Given the description of an element on the screen output the (x, y) to click on. 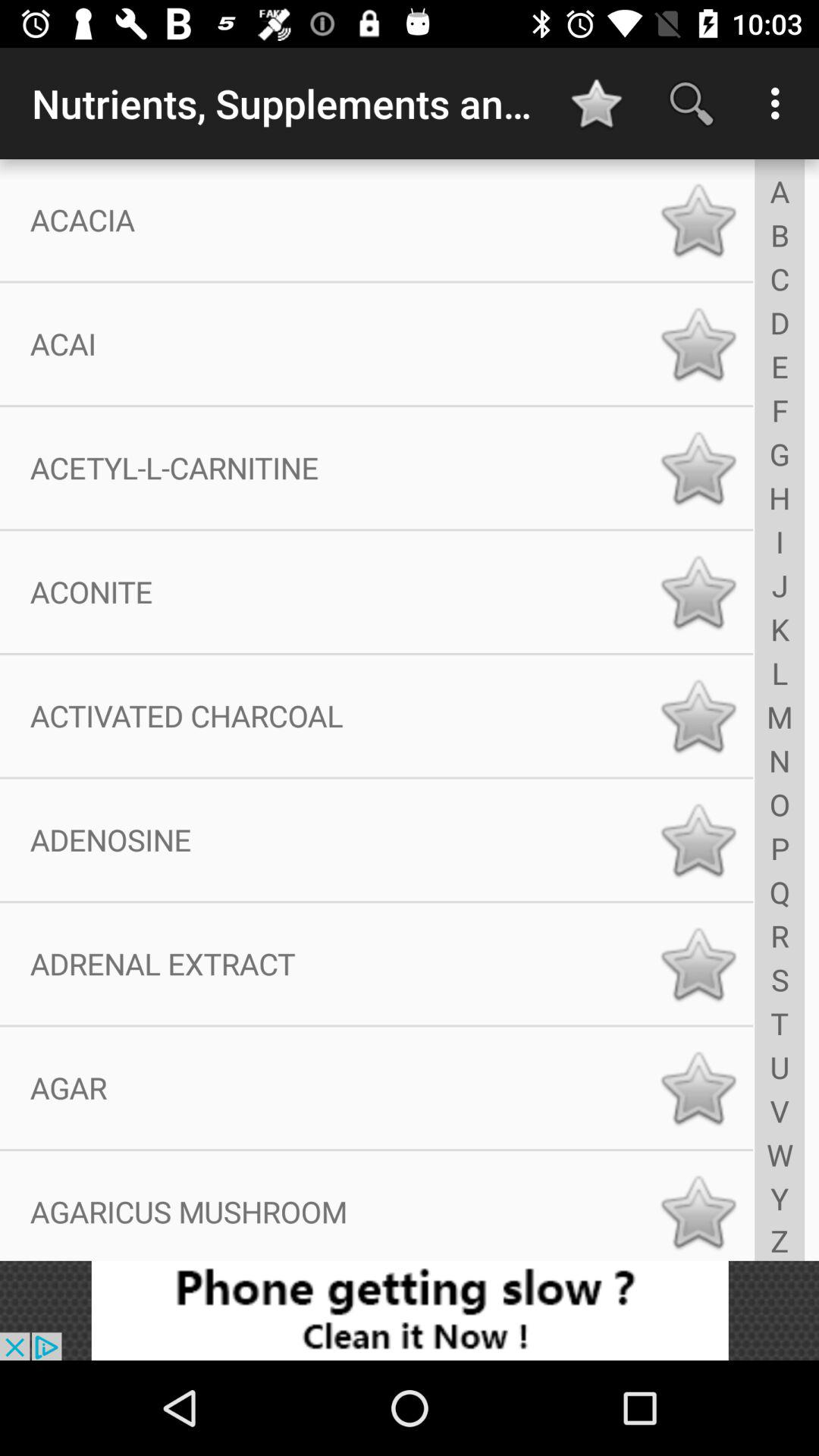
mark as favorite (697, 1087)
